Given the description of an element on the screen output the (x, y) to click on. 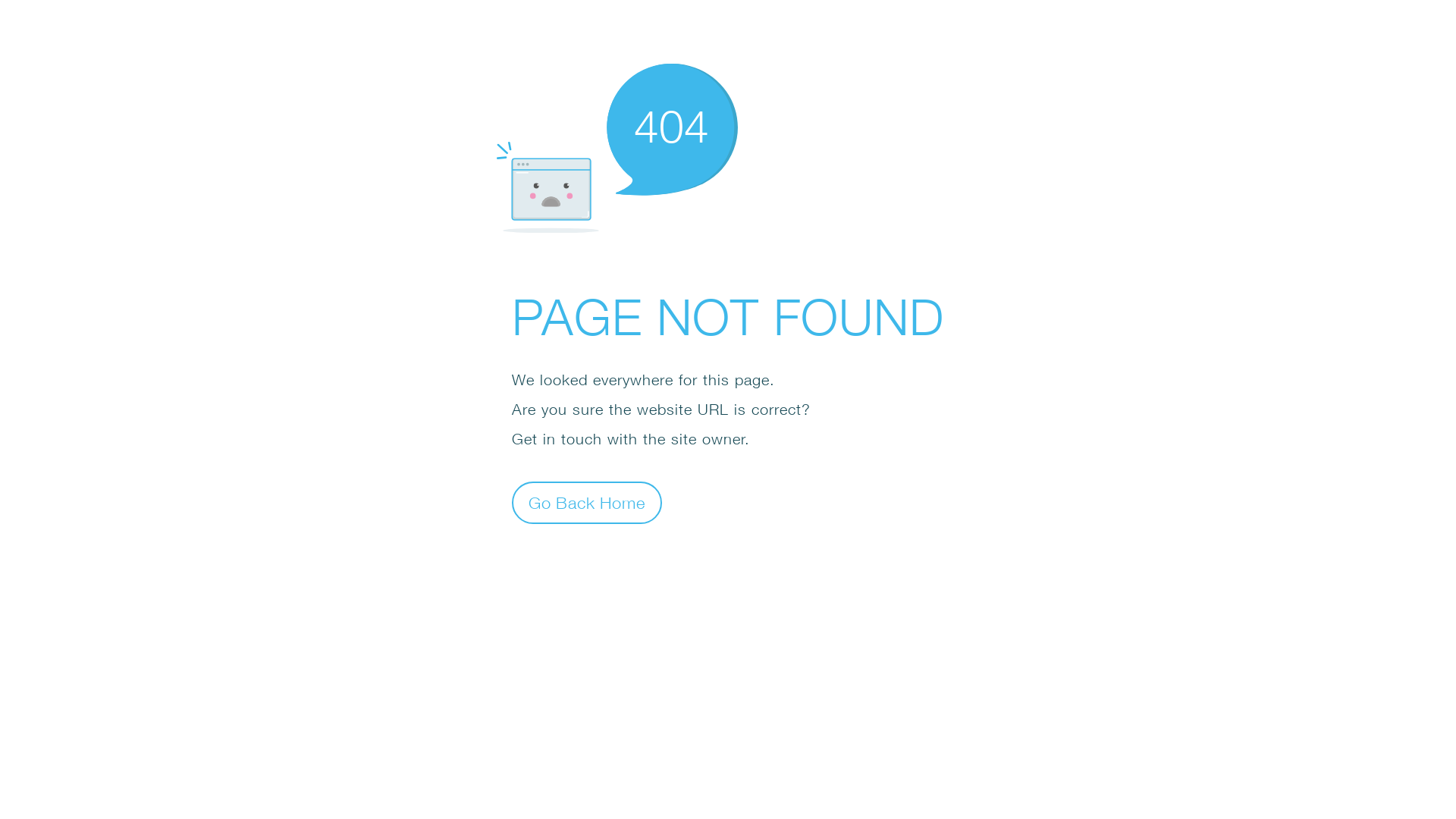
Go Back Home Element type: text (586, 502)
